Given the description of an element on the screen output the (x, y) to click on. 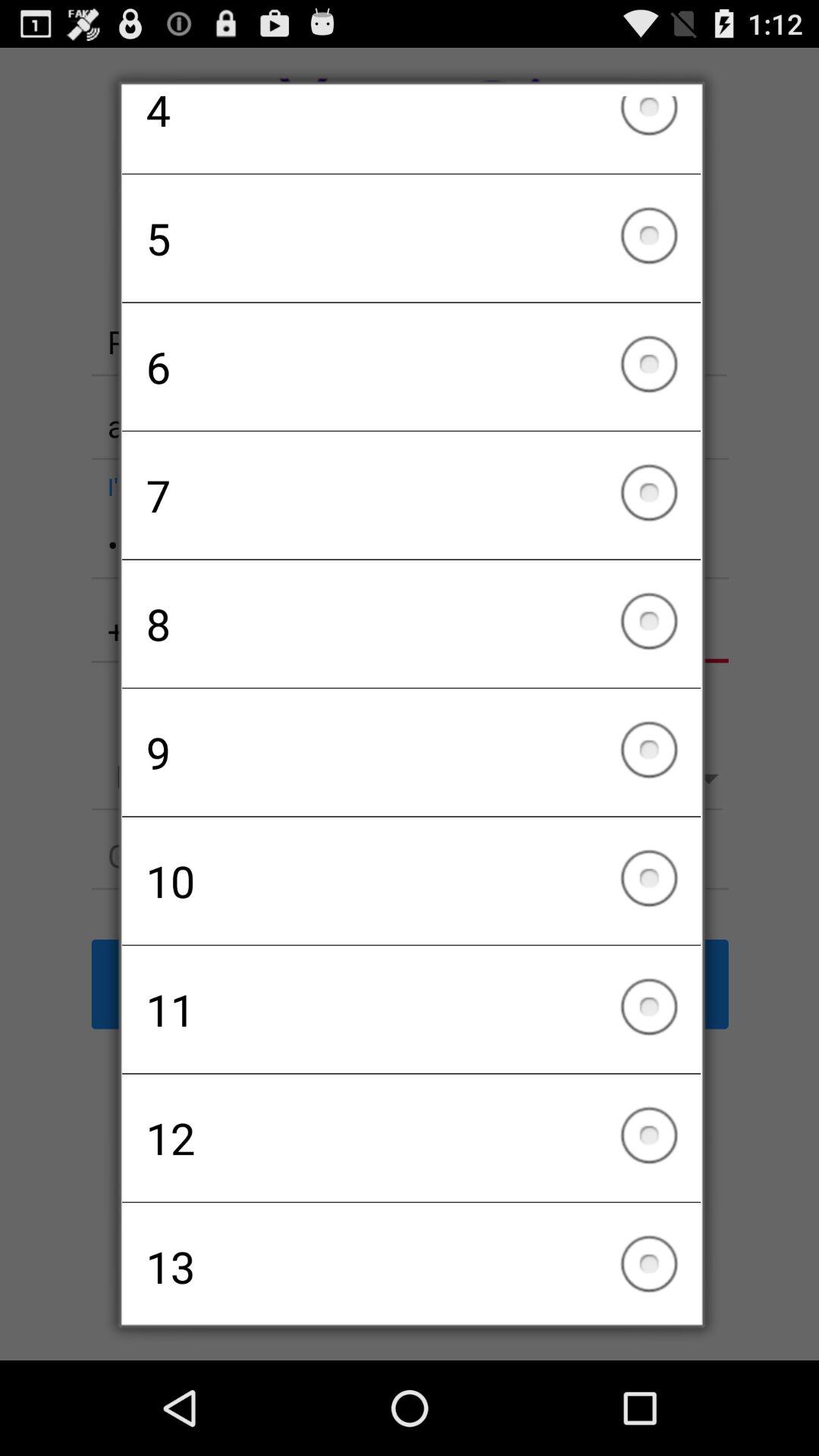
scroll to 6 item (411, 366)
